Given the description of an element on the screen output the (x, y) to click on. 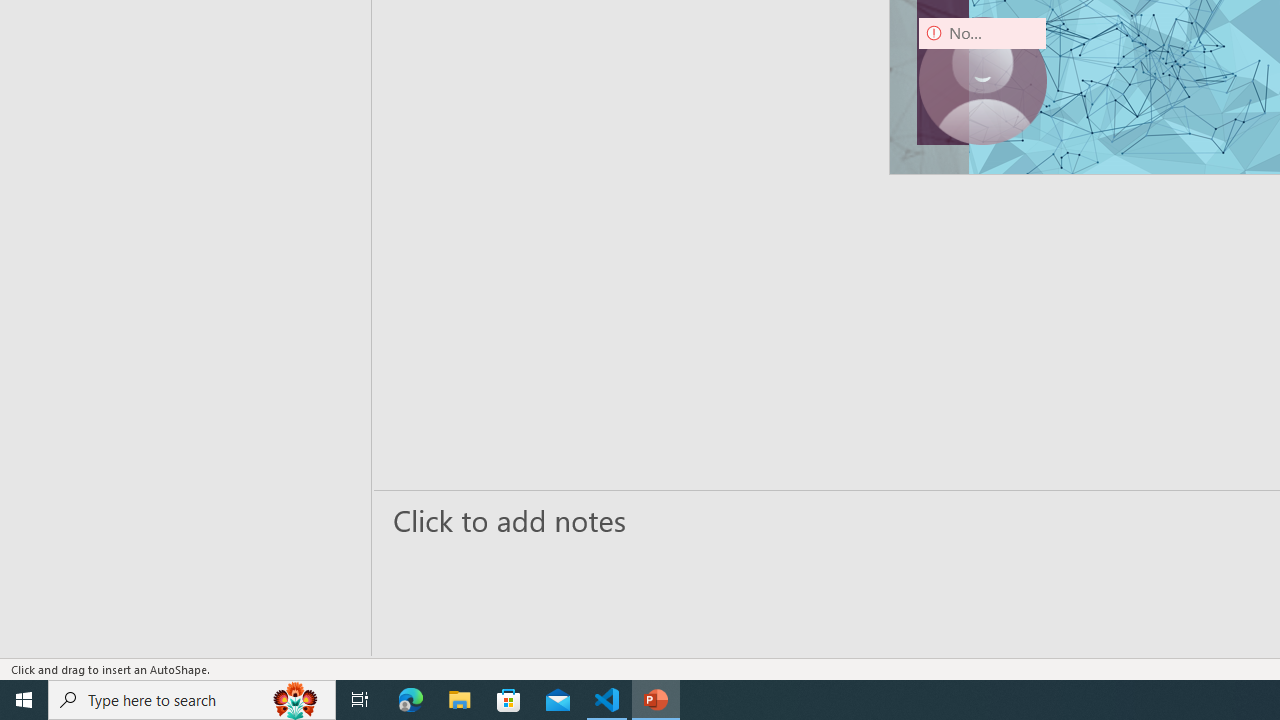
Camera 9, No camera detected. (982, 80)
